Given the description of an element on the screen output the (x, y) to click on. 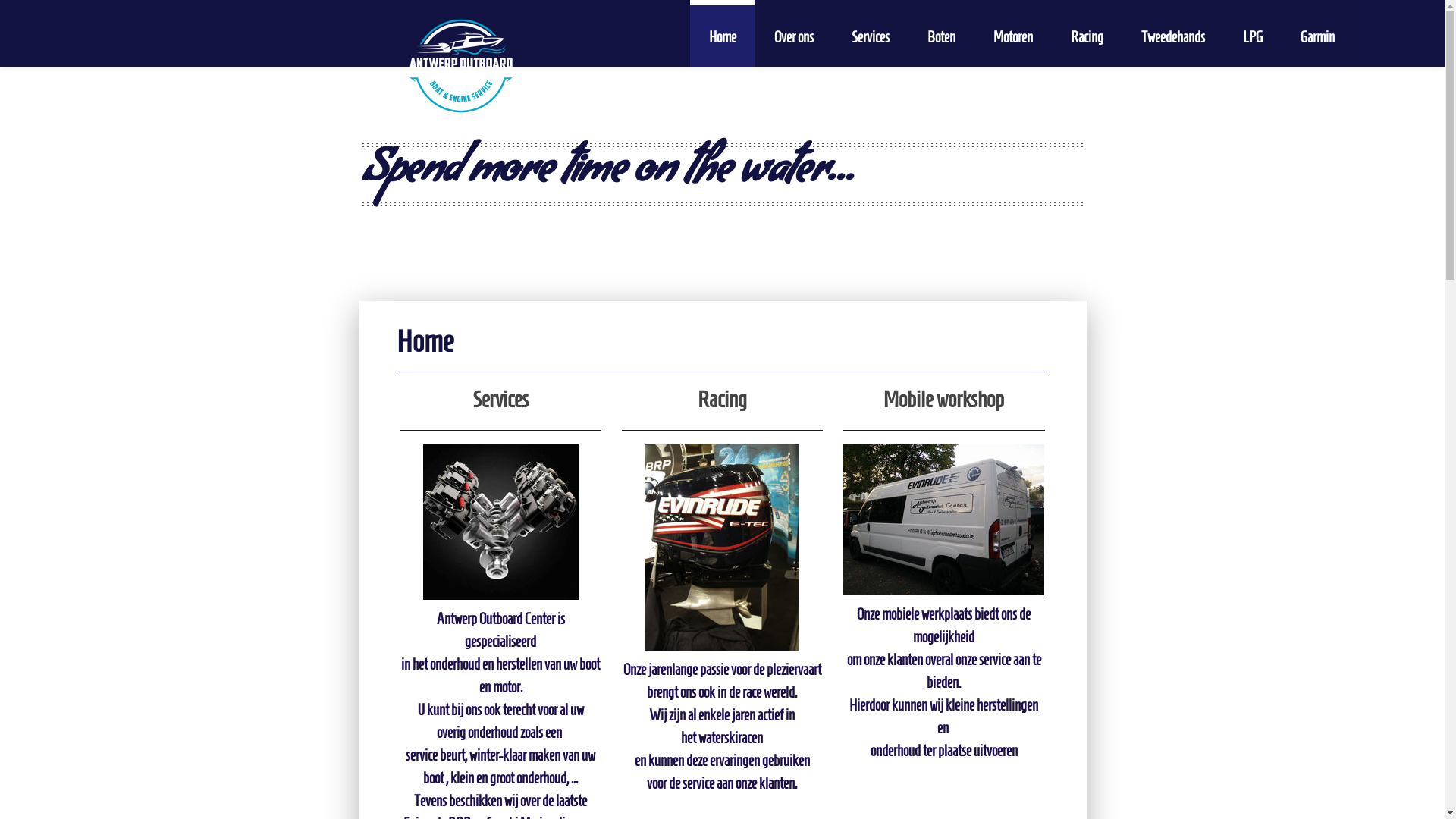
Boten Element type: text (941, 33)
Racing Element type: text (1086, 33)
Home Element type: text (426, 340)
Over ons Element type: text (793, 33)
Services Element type: text (870, 33)
Home Element type: text (722, 33)
Garmin Element type: text (1317, 33)
Spend more time on the water... Element type: text (722, 173)
Tweedehands Element type: text (1172, 33)
Motoren Element type: text (1012, 33)
LPG Element type: text (1252, 33)
